Given the description of an element on the screen output the (x, y) to click on. 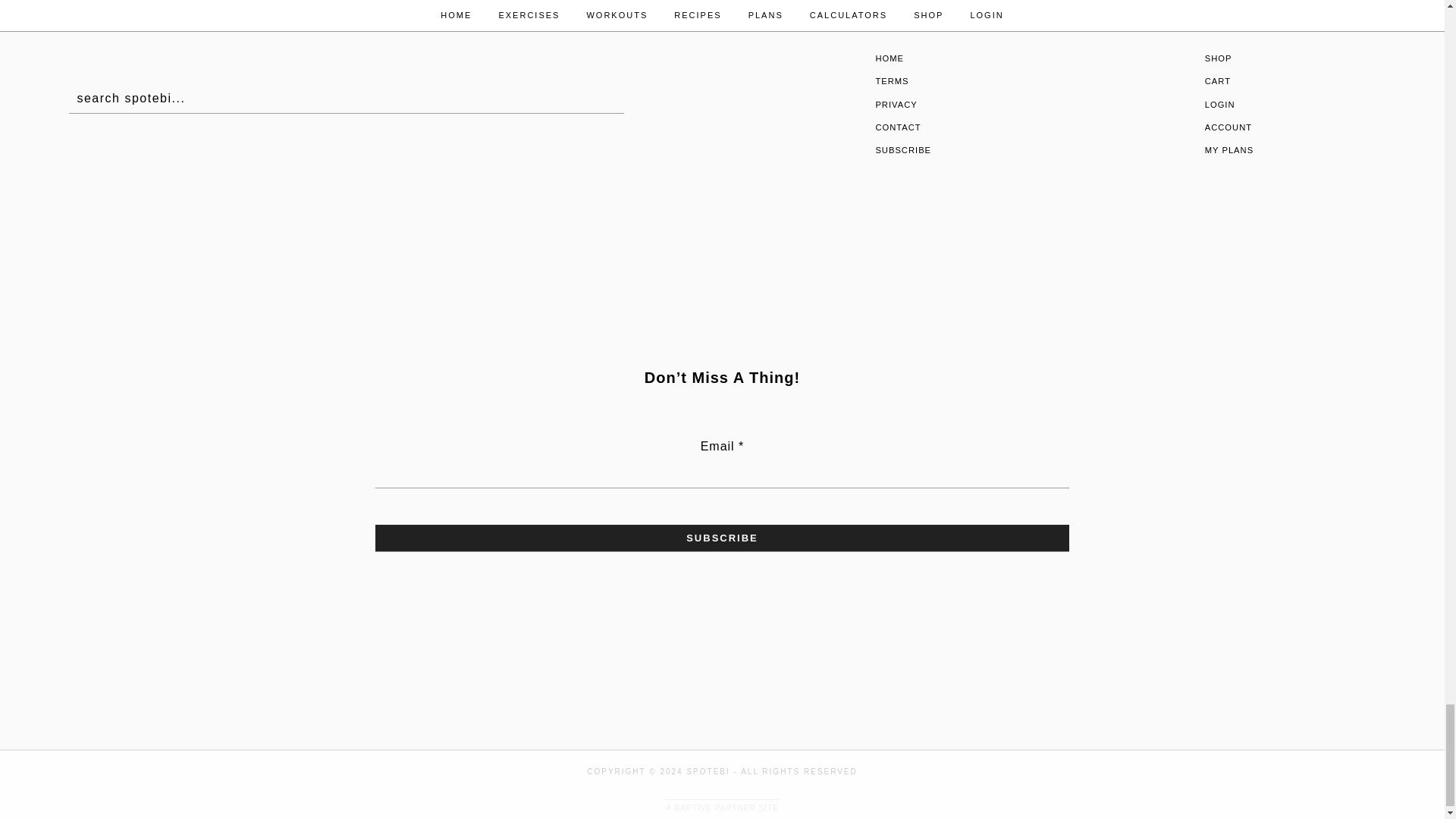
Subscribe (721, 538)
